Given the description of an element on the screen output the (x, y) to click on. 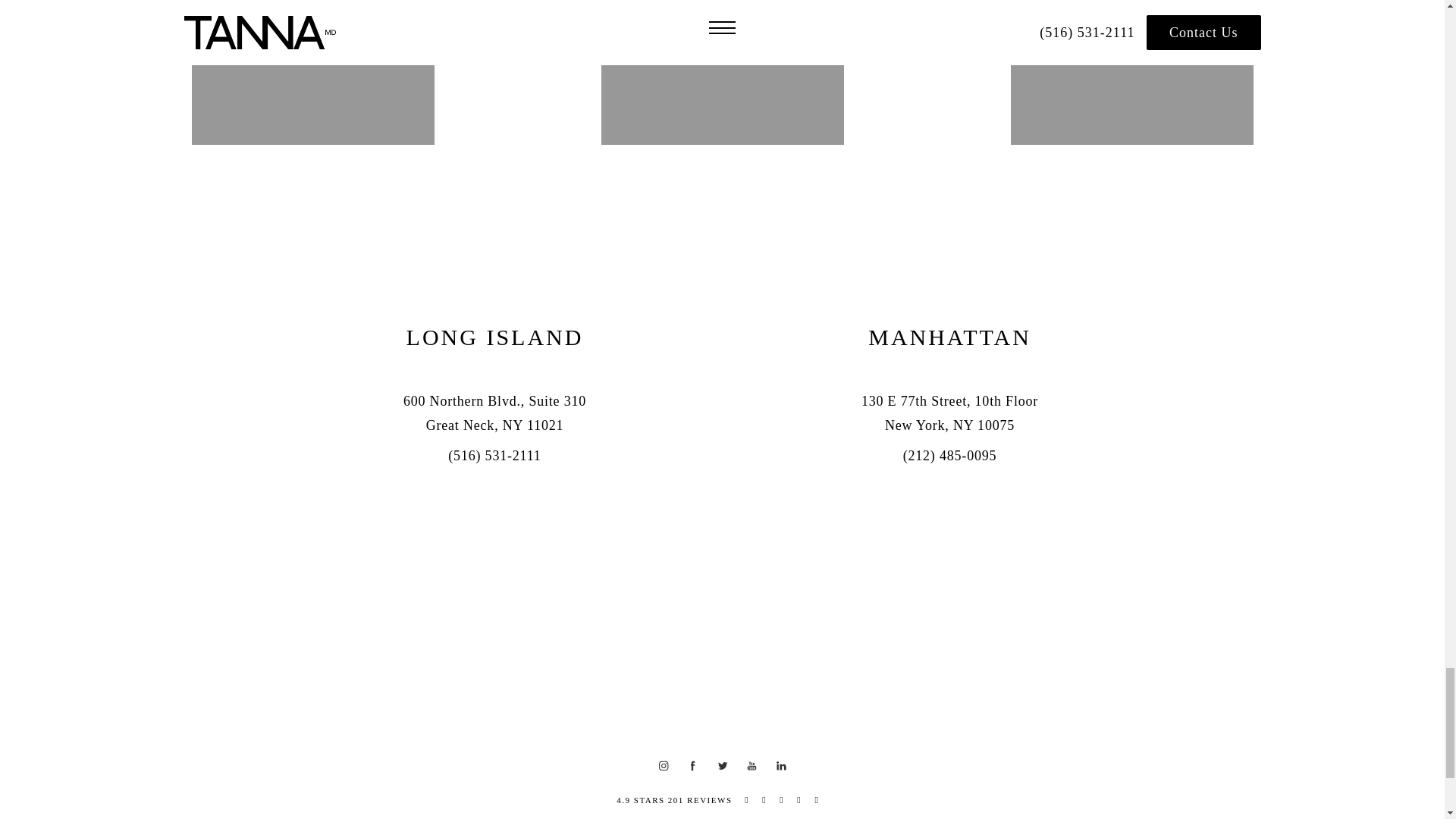
Our Office (1131, 22)
Neil Tanna on Instagram (664, 766)
Neil Tanna on Facebook (693, 766)
Media (312, 22)
